Given the description of an element on the screen output the (x, y) to click on. 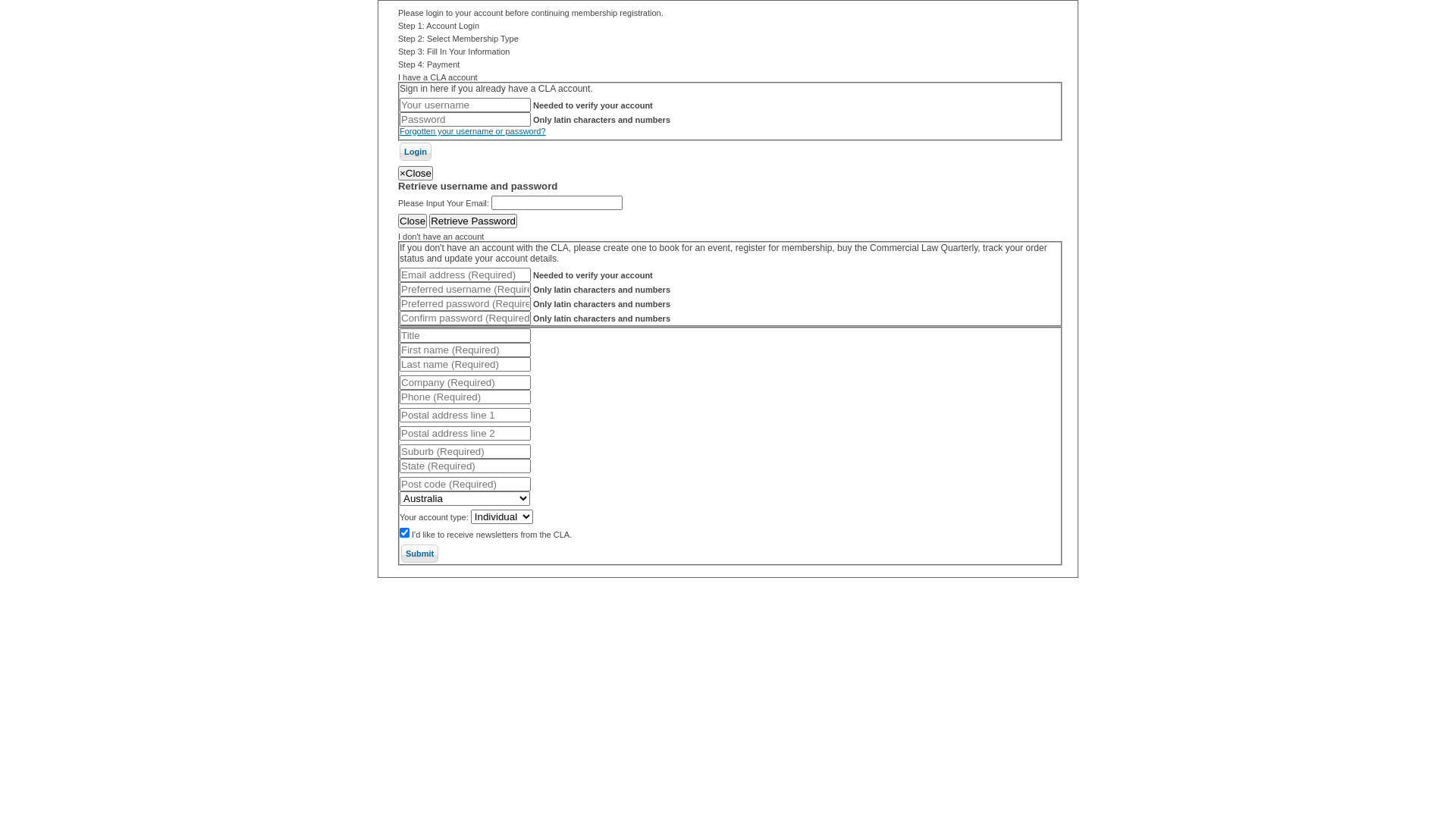
Forgotten your username or password? Element type: text (472, 130)
Retrieve Password Element type: text (473, 220)
Submit Element type: text (419, 553)
Login Element type: text (415, 151)
Close Element type: text (412, 220)
